Given the description of an element on the screen output the (x, y) to click on. 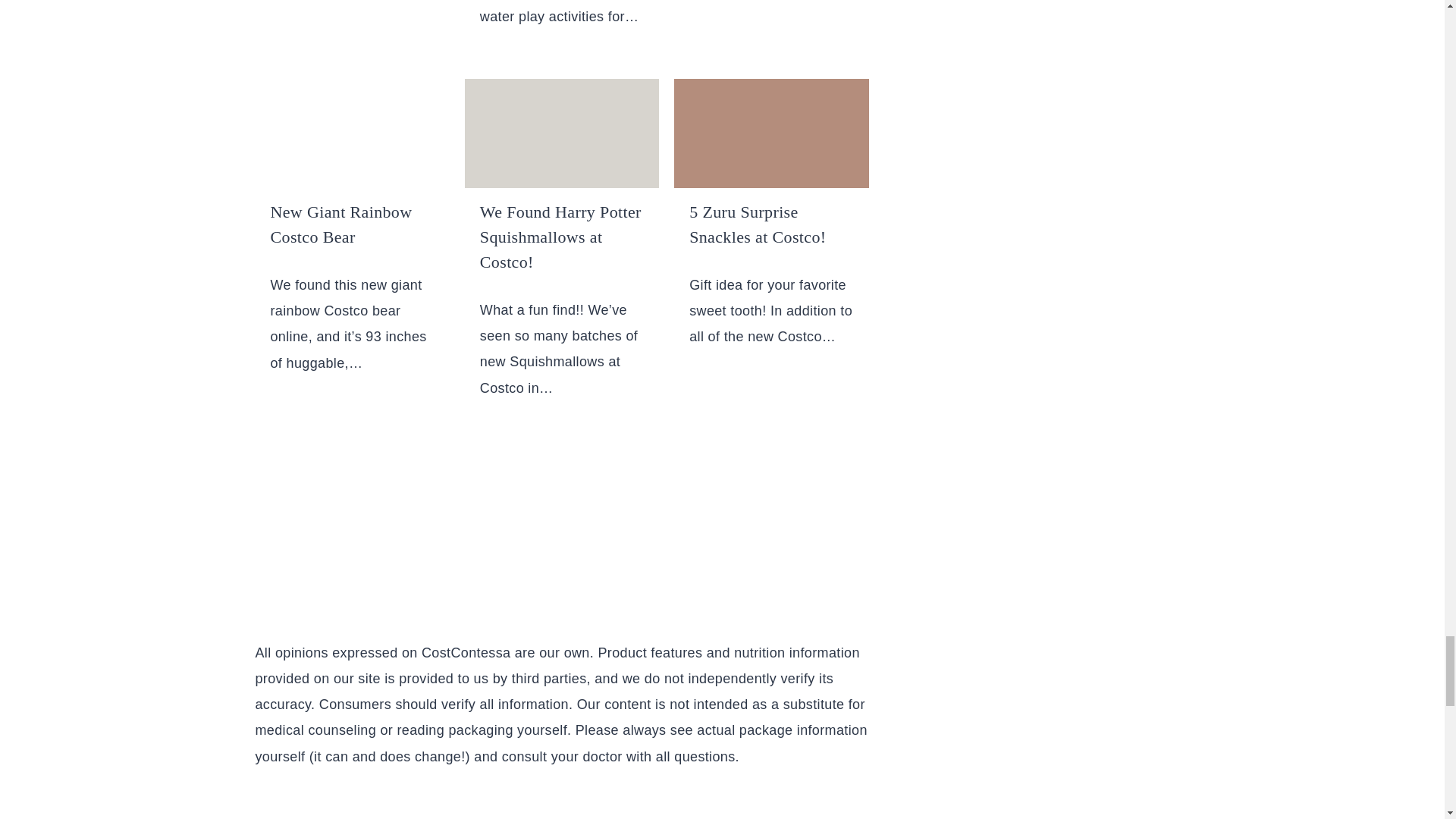
Ker-Pops Super Jumbo Bubble Sensory Mat at Costco 10 (770, 133)
Ker-Pops Super Jumbo Bubble Sensory Mat at Costco 8 (351, 133)
Ker-Pops Super Jumbo Bubble Sensory Mat at Costco 9 (561, 133)
